Given the description of an element on the screen output the (x, y) to click on. 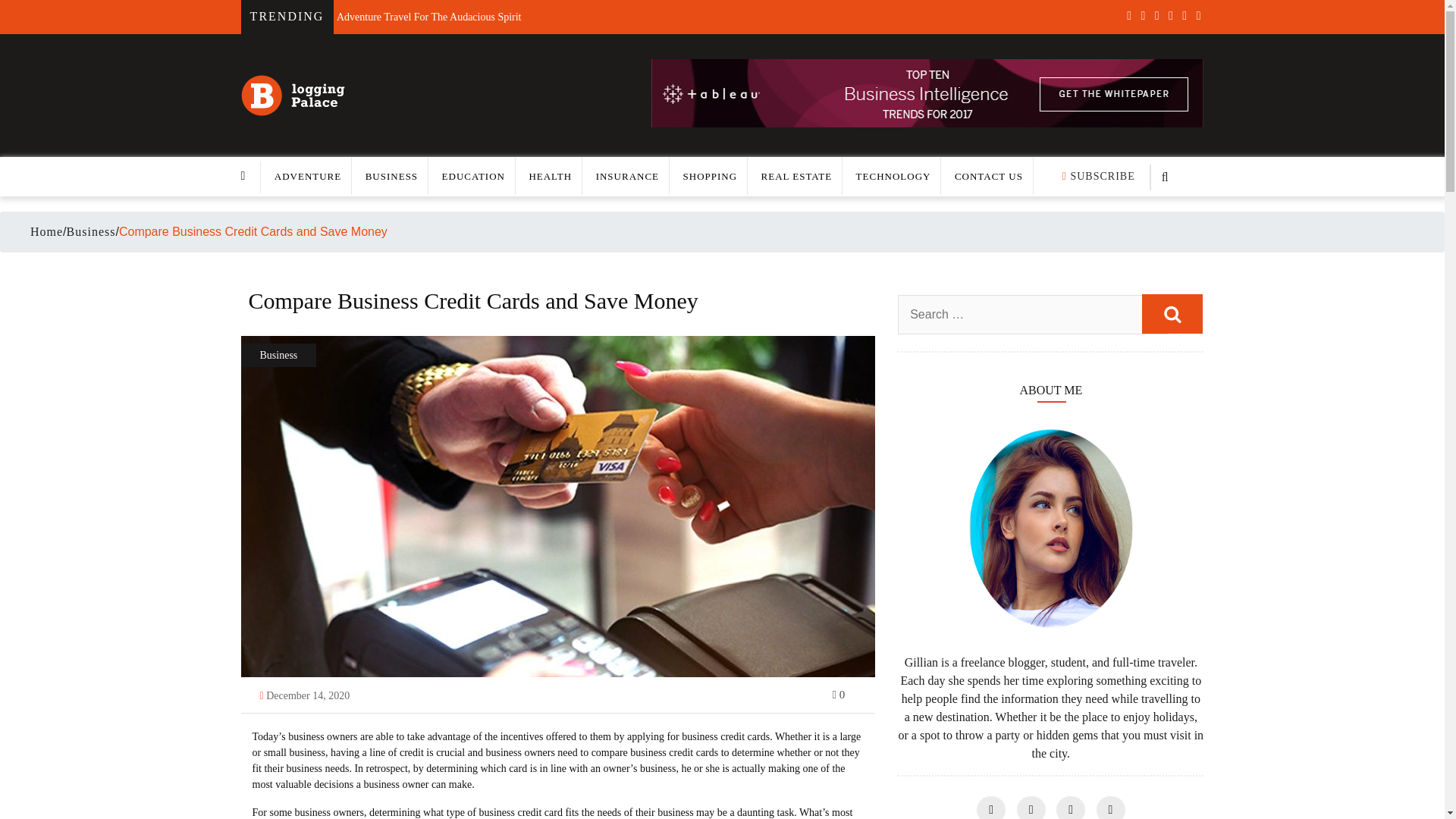
REAL ESTATE (796, 175)
EDUCATION (473, 175)
Home (46, 231)
Business (91, 231)
SHOPPING (710, 175)
TECHNOLOGY (893, 175)
Adventure Travel For The Audacious Spirit (428, 12)
HEALTH (550, 175)
CONTACT US (989, 175)
INSURANCE (627, 175)
ADVENTURE (307, 175)
BUSINESS (391, 175)
